Given the description of an element on the screen output the (x, y) to click on. 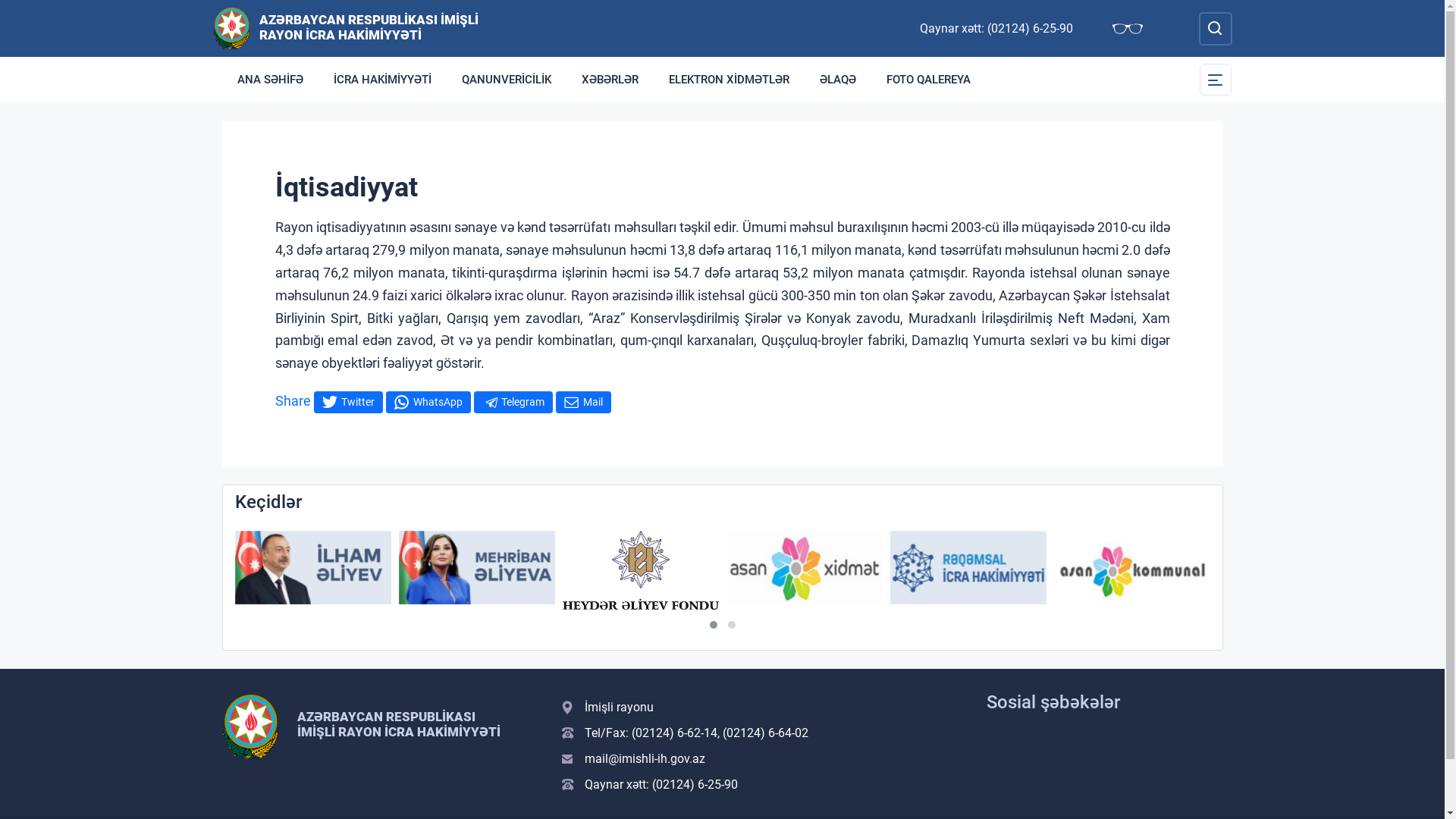
WhatsApp Element type: text (427, 402)
Asan komunal Element type: hover (1132, 567)
Share Element type: text (292, 400)
Twitter Element type: text (347, 402)
QANUNVERICILIK Element type: text (505, 79)
mail@imishli-ih.gov.az Element type: text (764, 758)
Mail Element type: text (582, 402)
FOTO QALEREYA Element type: text (927, 79)
Telegram Element type: text (512, 402)
